Given the description of an element on the screen output the (x, y) to click on. 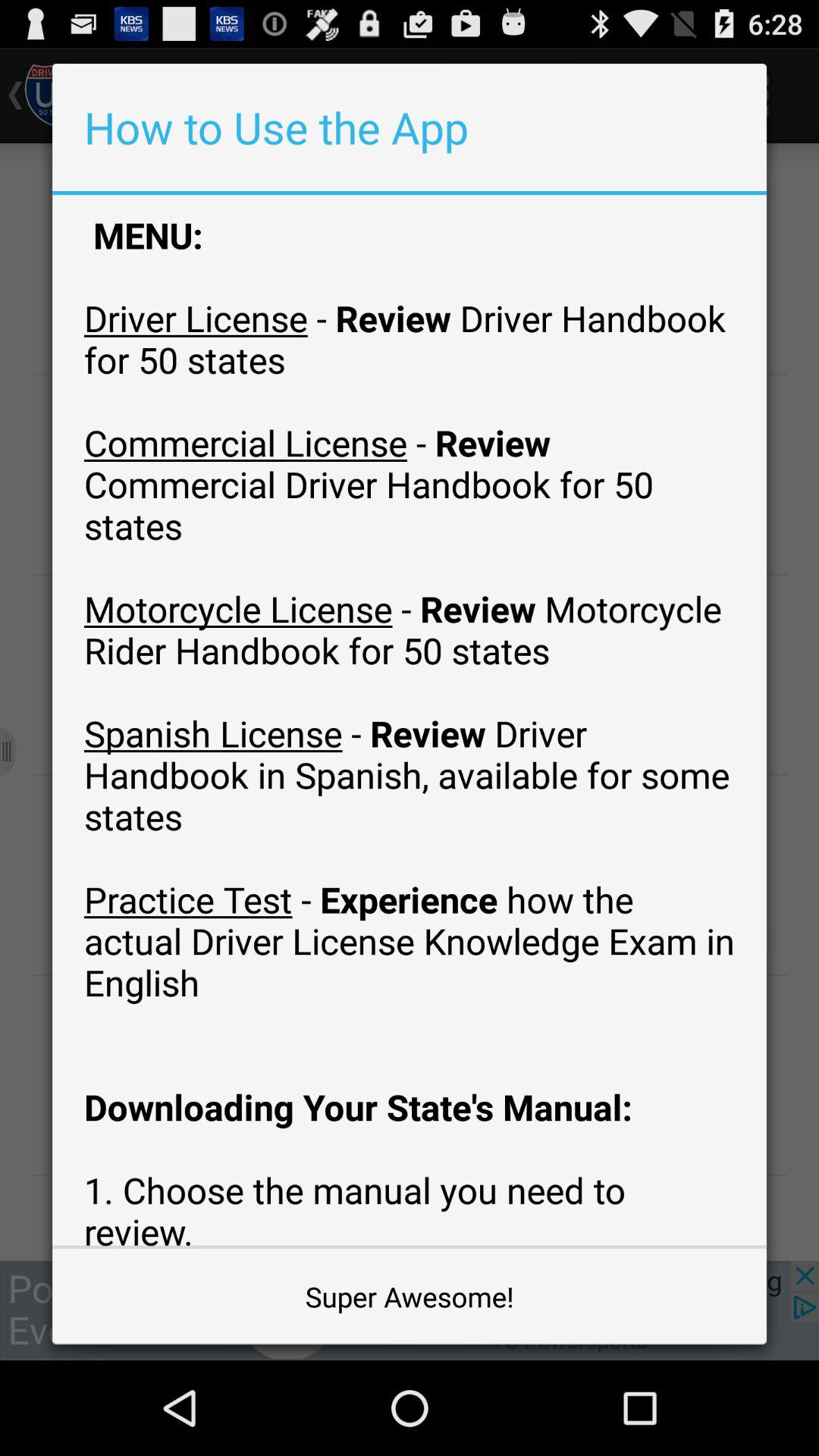
swipe to super awesome! item (409, 1296)
